Given the description of an element on the screen output the (x, y) to click on. 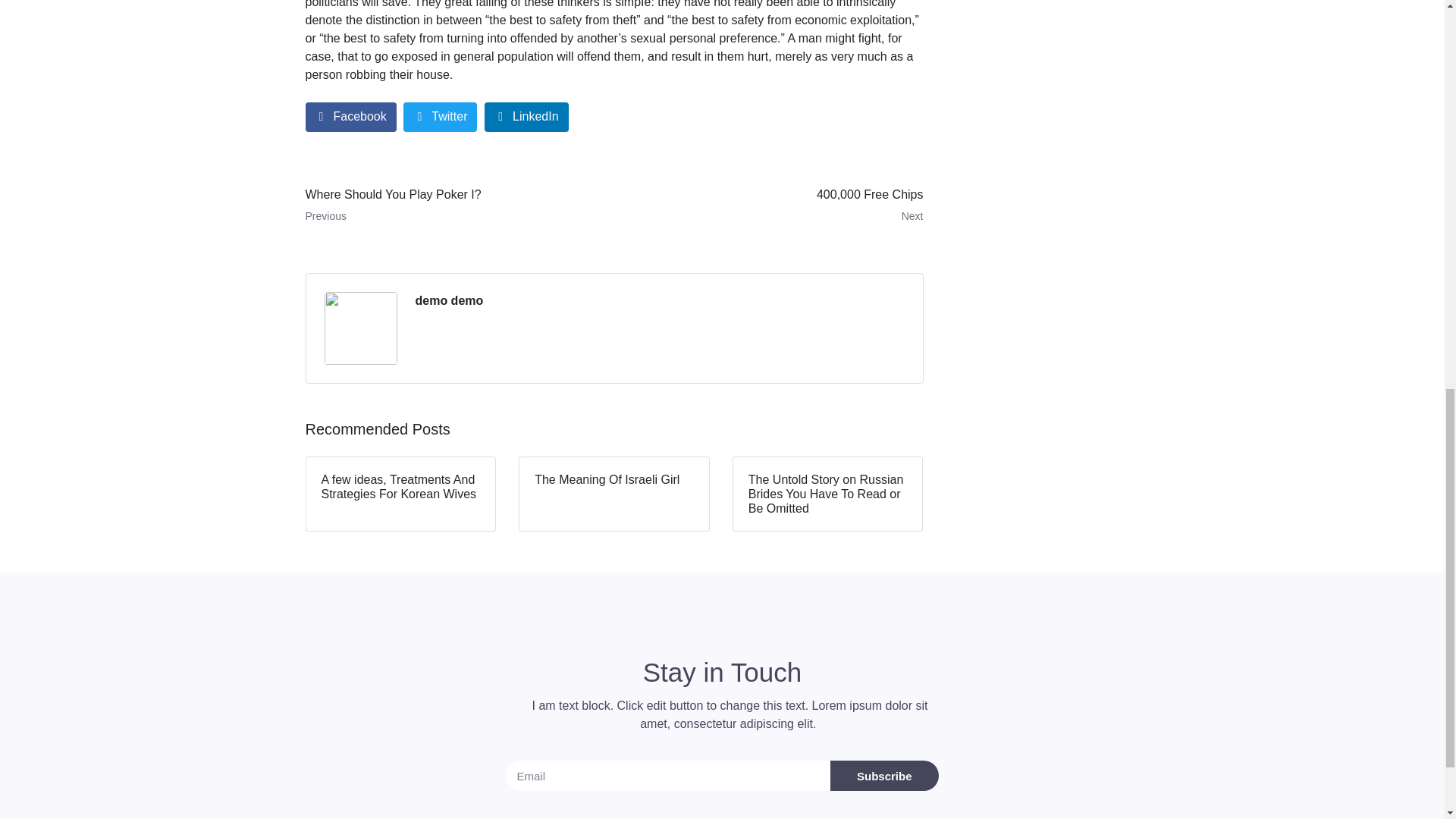
Twitter (440, 116)
LinkedIn (526, 116)
Facebook (350, 116)
400,000 Free Chips (774, 205)
demo demo (448, 300)
Where Should You Play Poker I? (454, 205)
Subscribe (884, 775)
A few ideas, Treatments And Strategies For Korean Wives (454, 205)
